Given the description of an element on the screen output the (x, y) to click on. 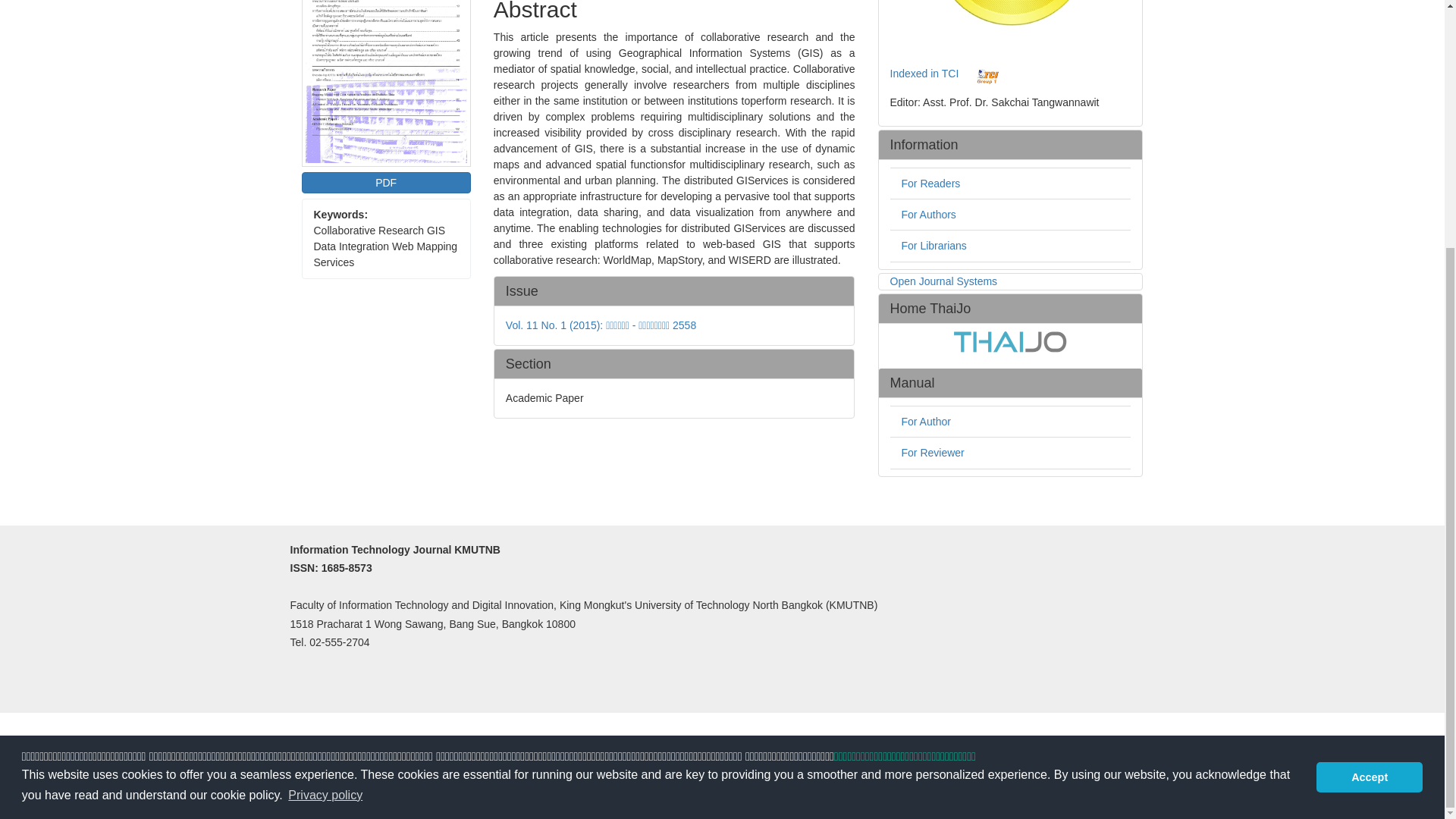
For Reviewer (932, 452)
Indexed in TCI (924, 72)
Privacy policy (325, 448)
For Librarians (933, 245)
Privacy policy (1364, 465)
For Readers (930, 183)
PDF (385, 182)
For Author (925, 421)
Accept (1369, 430)
For Authors (928, 214)
home thaijo (1010, 340)
Open Journal Systems (943, 281)
